Given the description of an element on the screen output the (x, y) to click on. 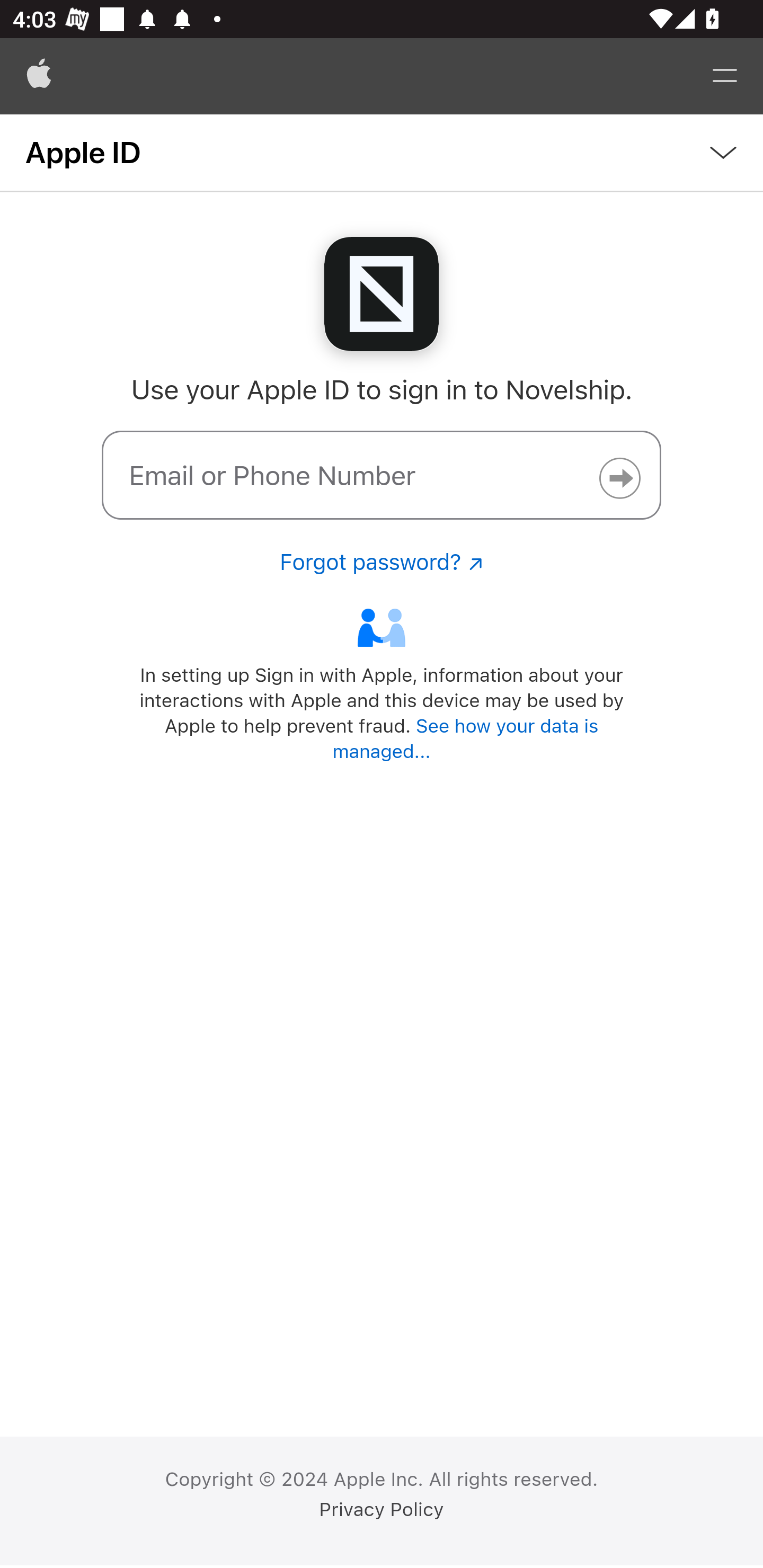
Apple (38, 75)
Menu (724, 75)
Continue (618, 477)
Privacy Policy (381, 1509)
